Given the description of an element on the screen output the (x, y) to click on. 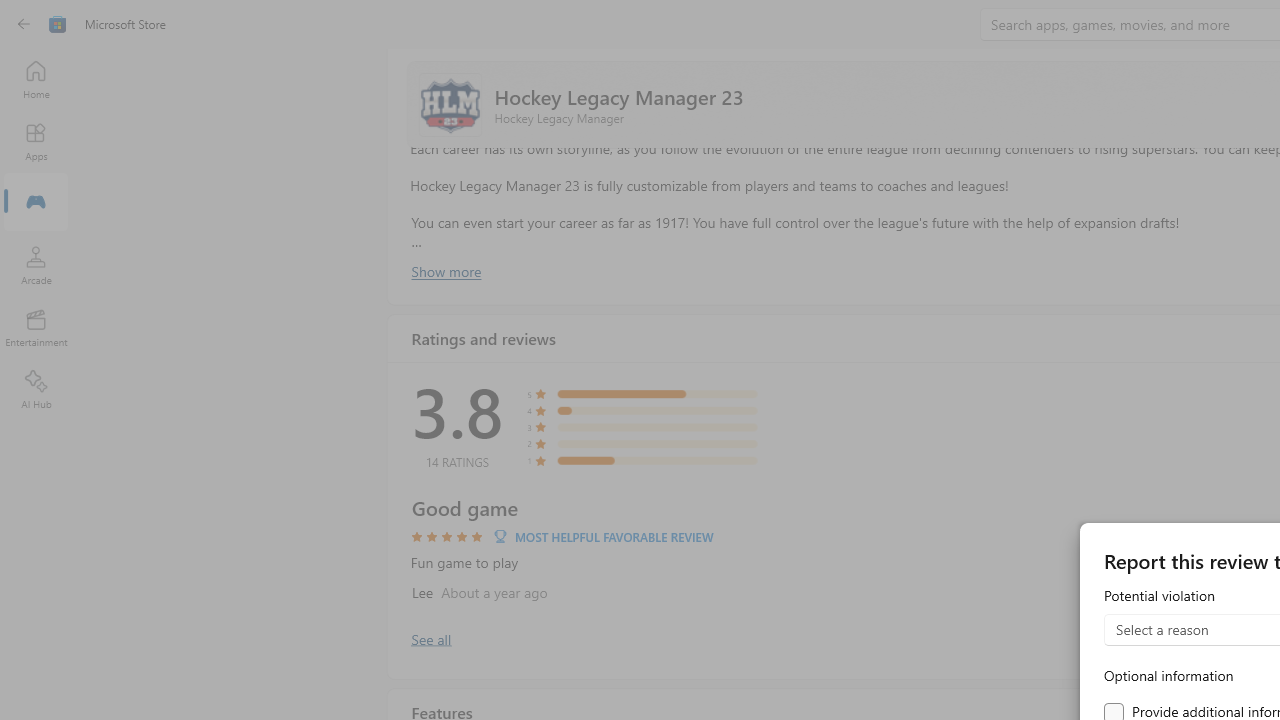
AI Hub (35, 390)
Back (24, 24)
Home (35, 79)
Show more (445, 271)
Arcade (35, 265)
Show all ratings and reviews (430, 637)
Gaming (35, 203)
Class: Image (58, 24)
Entertainment (35, 327)
